Given the description of an element on the screen output the (x, y) to click on. 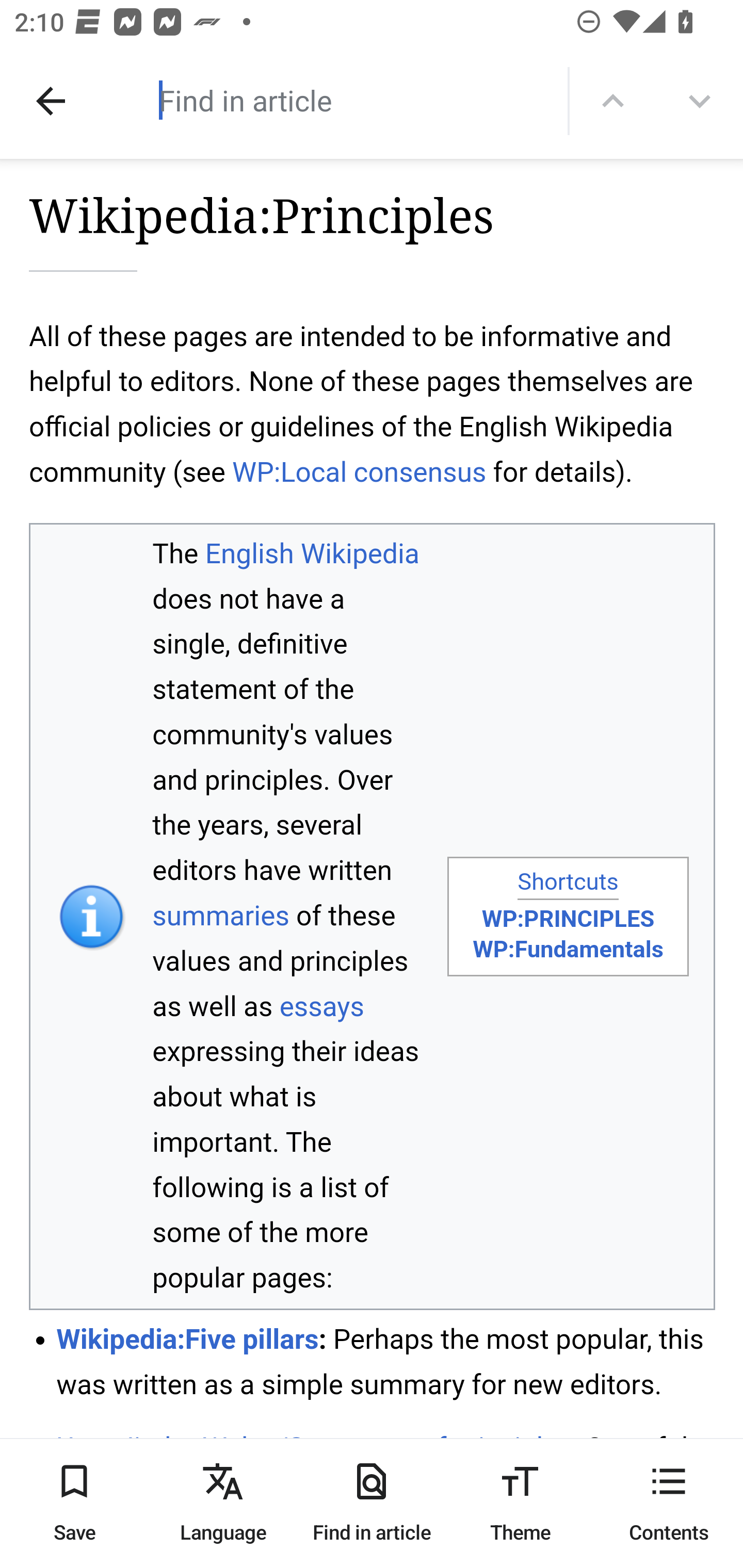
Done (50, 101)
Find previous (612, 101)
Find next (699, 101)
Find in article (334, 100)
WP:Local consensus (359, 471)
English Wikipedia (311, 553)
Shortcuts (567, 882)
summaries (220, 915)
WP:PRINCIPLES (567, 918)
WP:Fundamentals (567, 949)
essays (320, 1006)
Wikipedia:Five pillars (187, 1337)
Save (74, 1502)
Language (222, 1502)
Find in article (371, 1502)
Theme (519, 1502)
Contents (668, 1502)
